Given the description of an element on the screen output the (x, y) to click on. 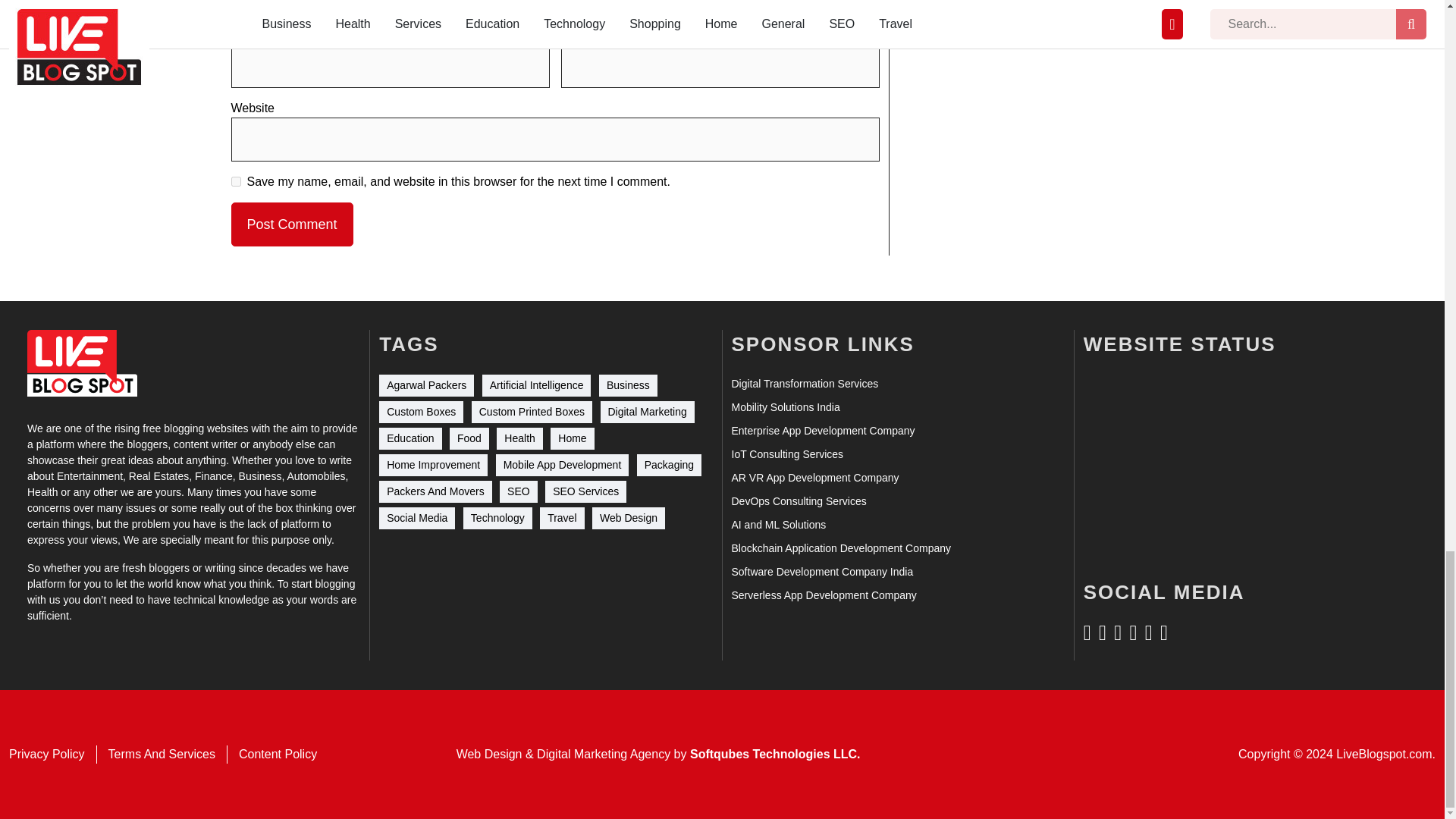
yes (235, 181)
Enterprise App Development Company (822, 430)
IoT Consulting Services (786, 454)
Mobility Solutions India (785, 407)
DevOps Consulting Services (798, 501)
Post Comment (291, 224)
AR VR App Development Company (814, 478)
Post Comment (291, 224)
Digital Transformation Services (803, 383)
Live Blog Spot (81, 363)
